Given the description of an element on the screen output the (x, y) to click on. 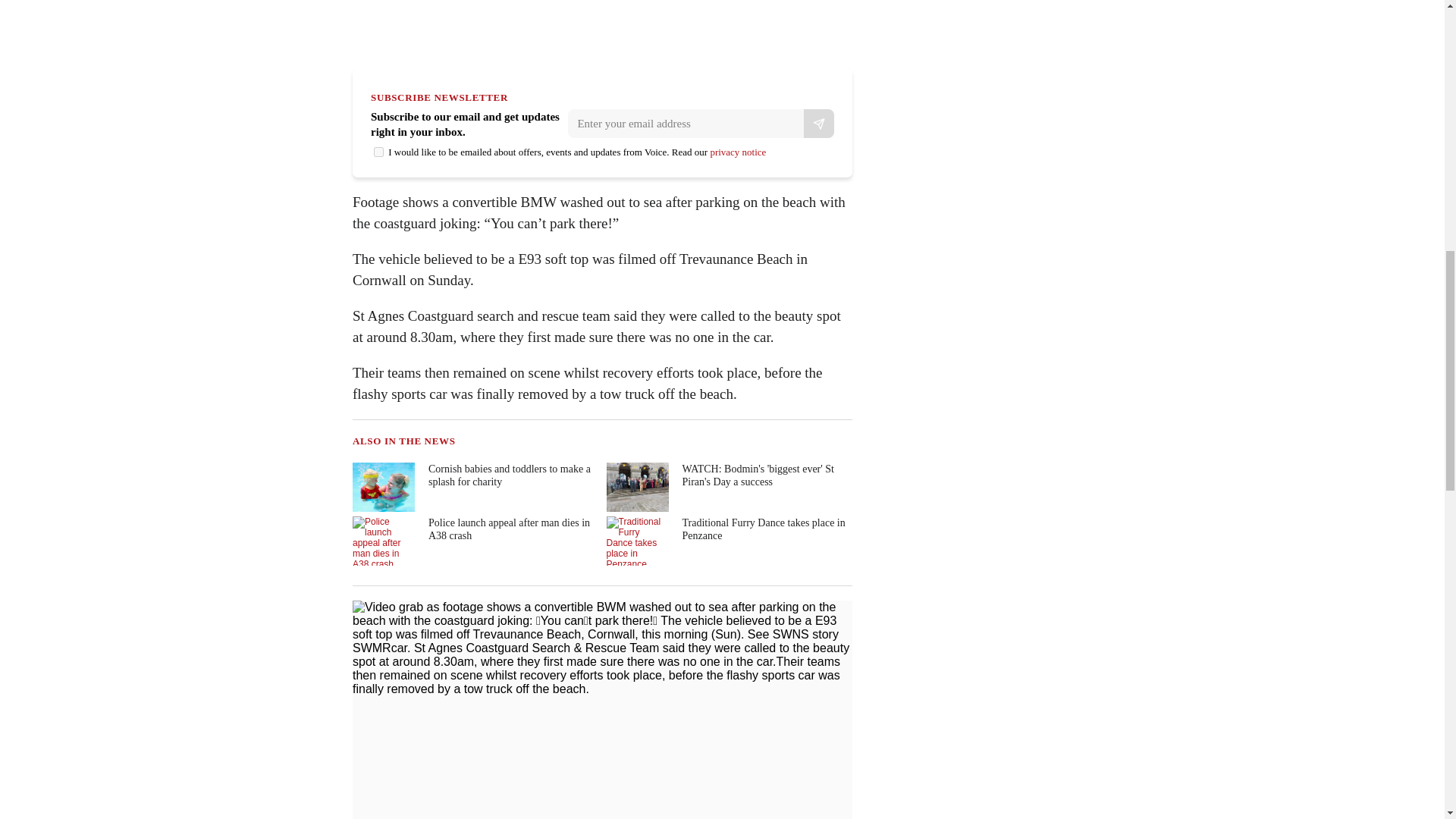
WATCH: Bodmin's 'biggest ever' St Piran's Day a success (727, 486)
privacy notice (737, 152)
on (379, 152)
Traditional Furry Dance takes place in Penzance (727, 540)
Cornish babies and toddlers to make a splash for charity (473, 486)
Police launch appeal after man dies in A38 crash (473, 540)
